Given the description of an element on the screen output the (x, y) to click on. 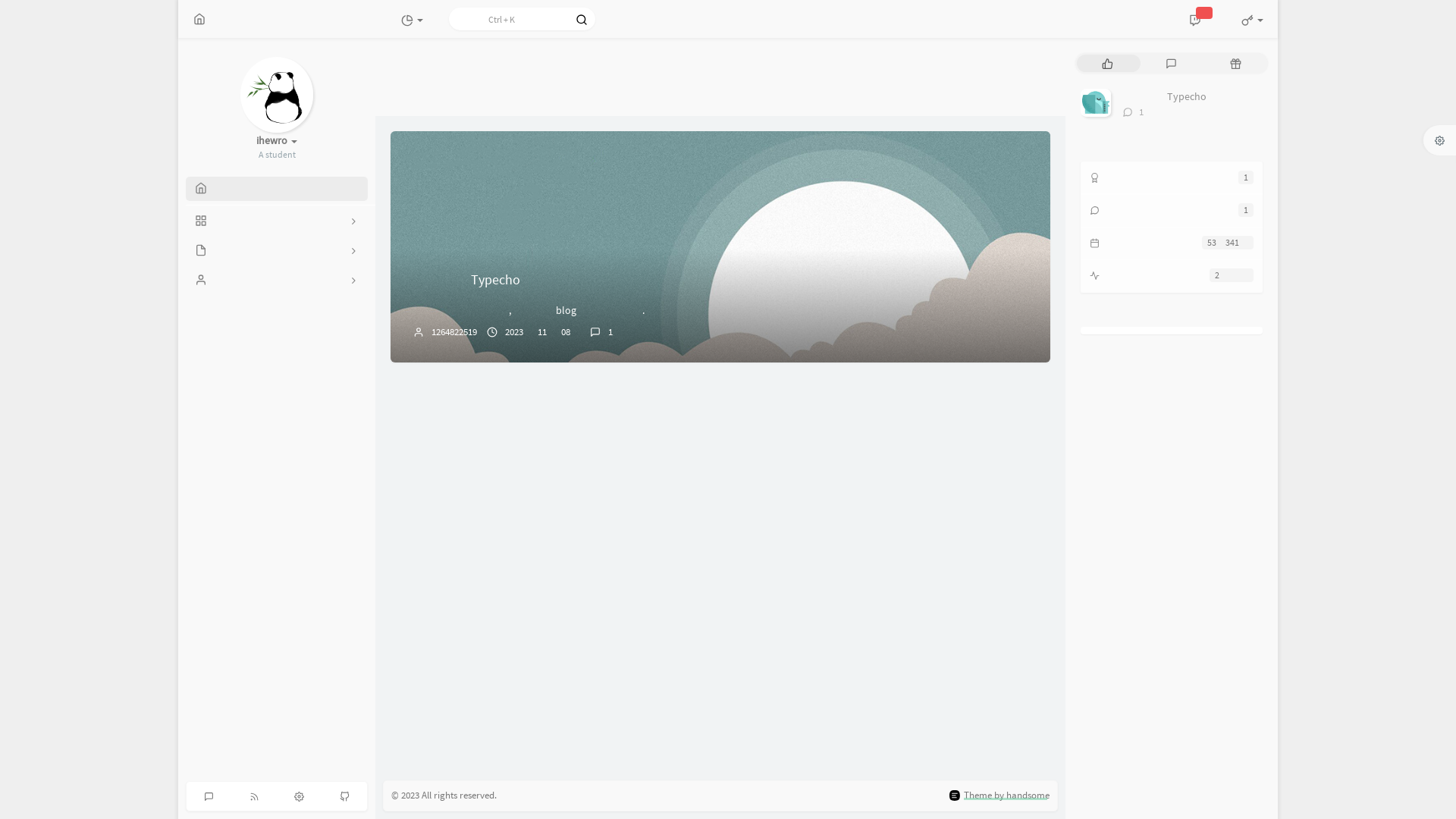
ihewro
A student Element type: text (276, 146)
1264822519 Element type: text (453, 331)
Theme by handsome Element type: text (1006, 794)
